Given the description of an element on the screen output the (x, y) to click on. 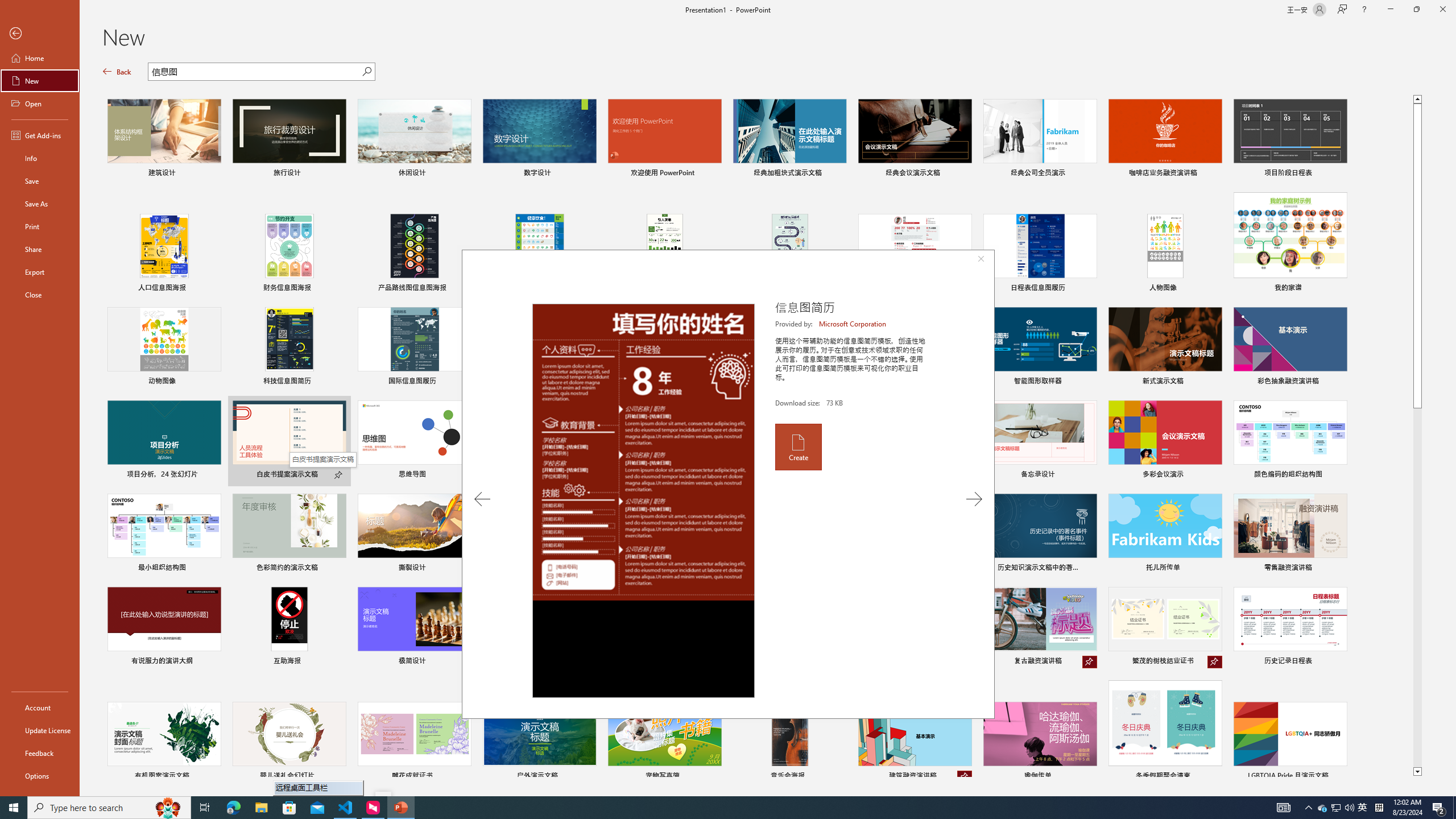
Account (40, 707)
Create (797, 446)
Page down (1417, 587)
